Given the description of an element on the screen output the (x, y) to click on. 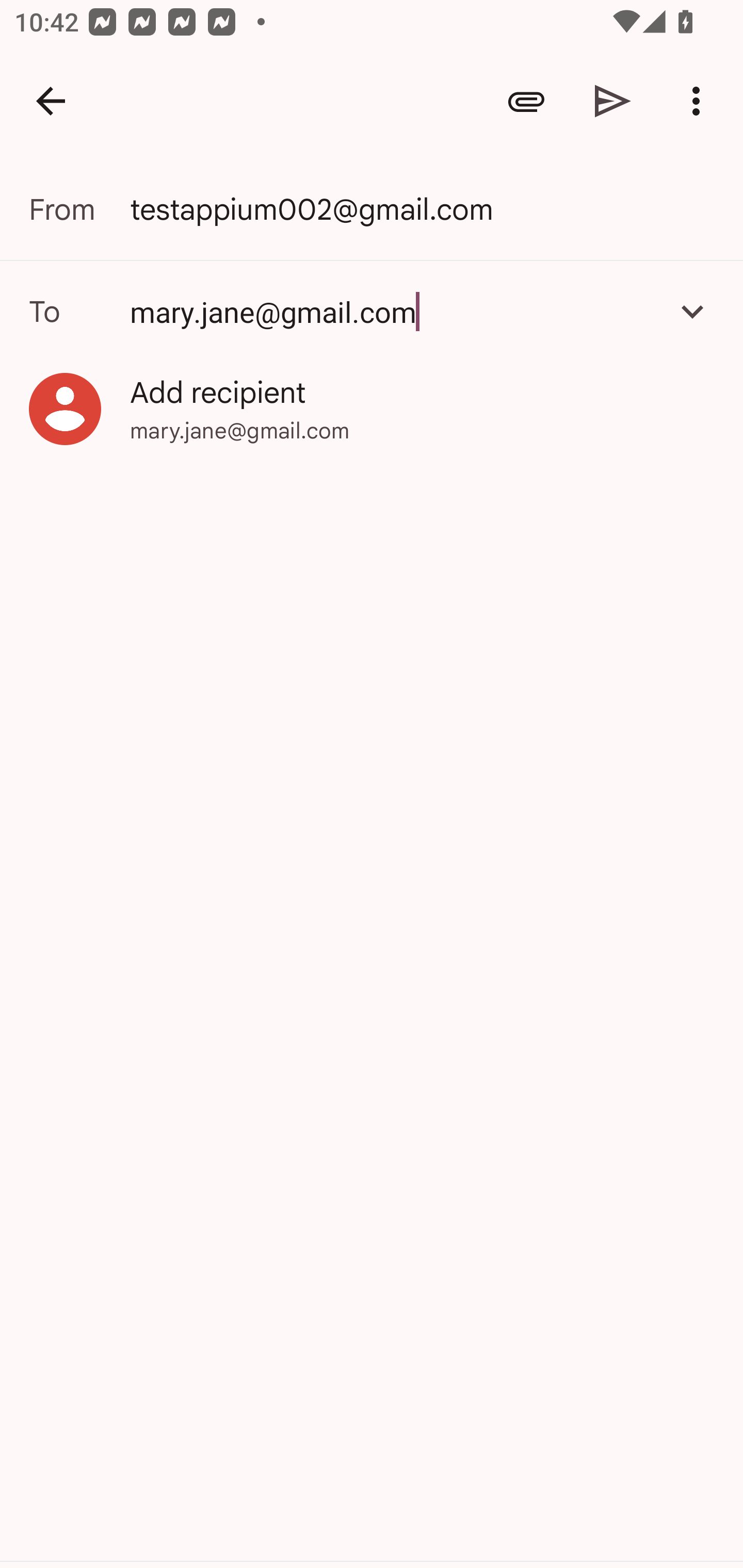
Navigate up (50, 101)
Attach file (525, 101)
Send (612, 101)
More options (699, 101)
From (79, 209)
Add Cc/Bcc (692, 311)
mary.jane@gmail.com (371, 311)
mary.jane@gmail.com (393, 311)
Add recipient mary.jane@gmail.com (371, 408)
